Given the description of an element on the screen output the (x, y) to click on. 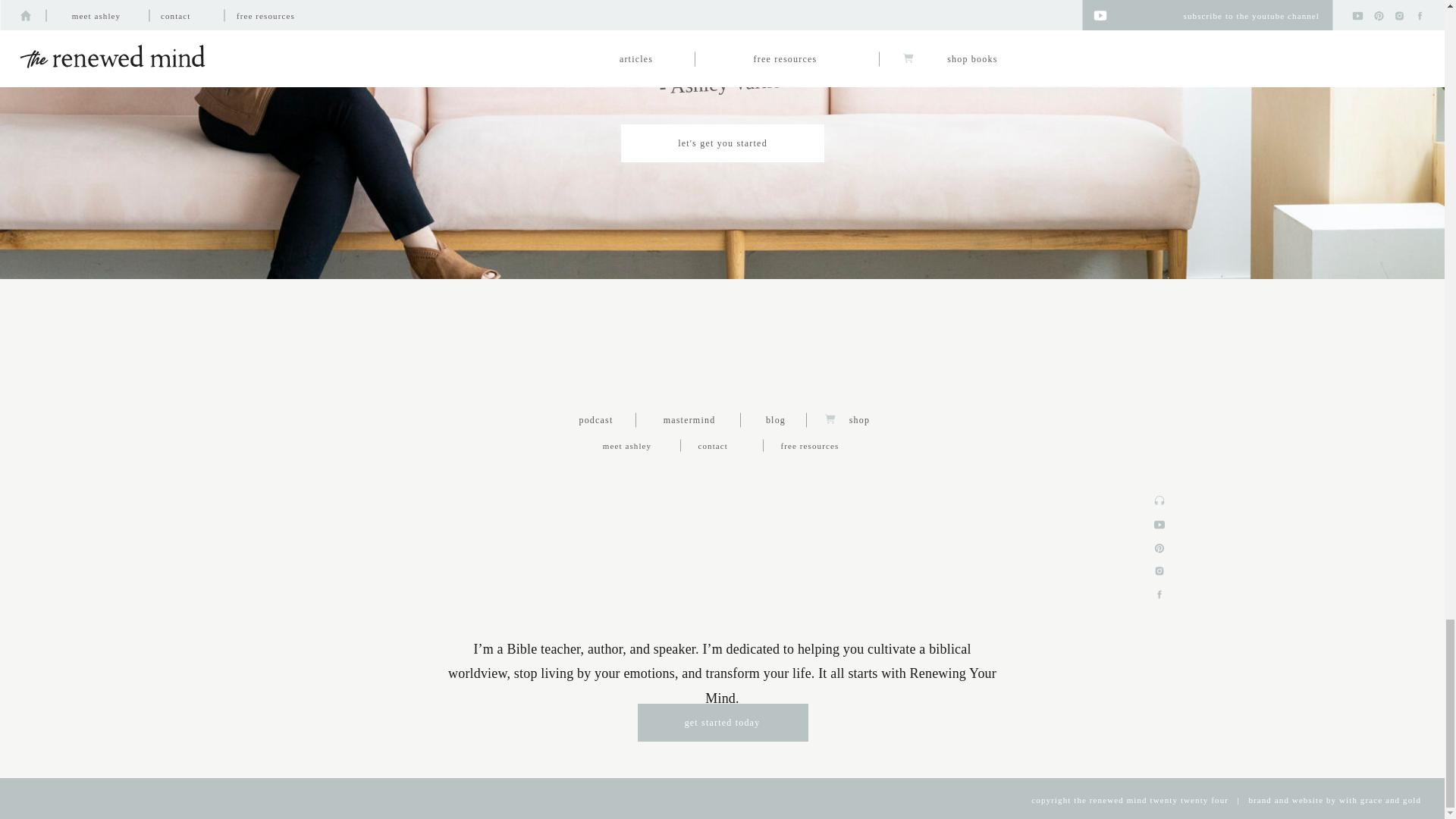
shop (859, 418)
free resources (828, 444)
podcast (596, 418)
contact (722, 444)
mastermind (688, 418)
meet ashley (626, 444)
let's get you started (722, 142)
blog (775, 418)
